Given the description of an element on the screen output the (x, y) to click on. 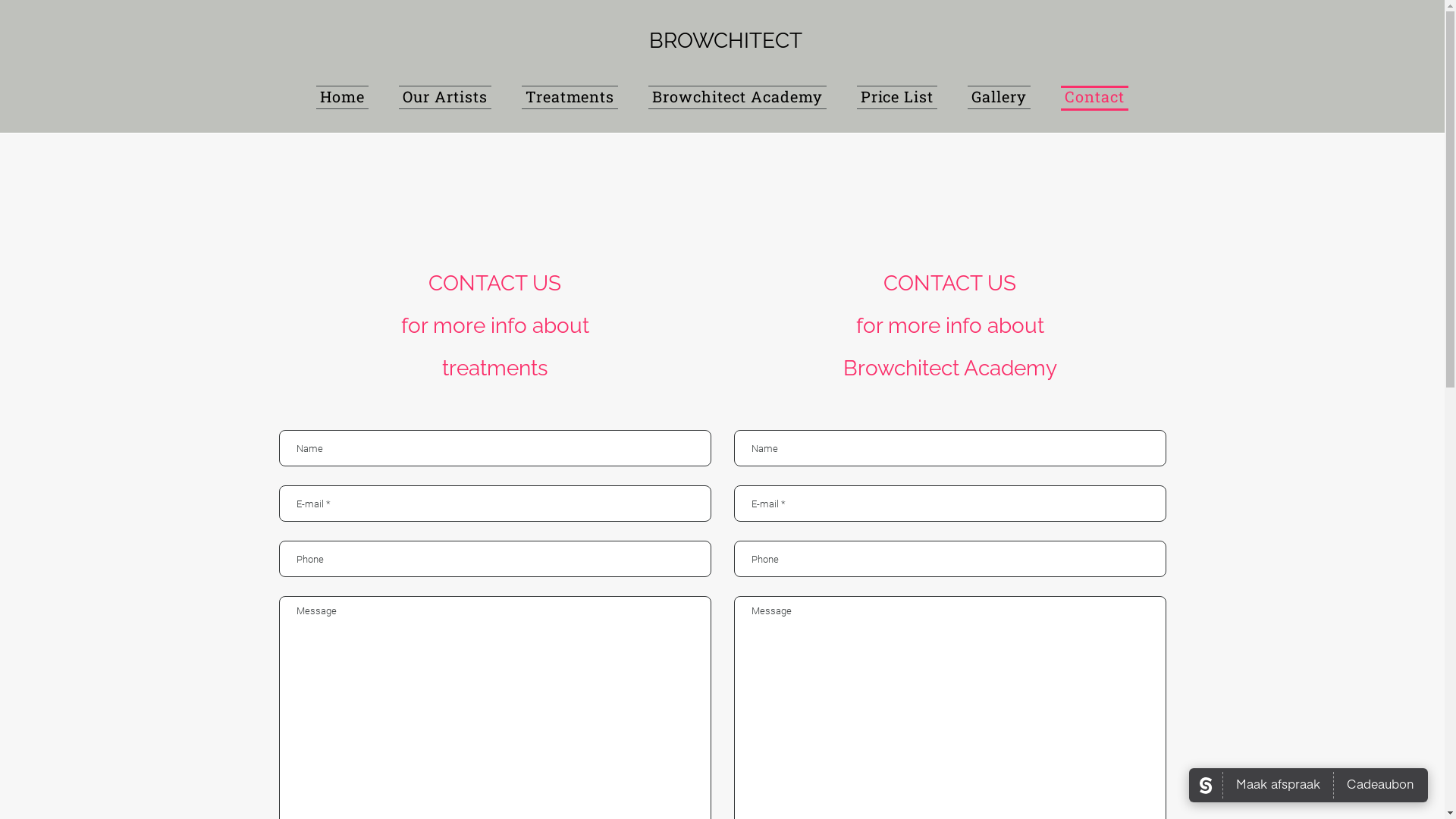
Price List Element type: text (897, 96)
Treatments Element type: text (569, 96)
Browchitect Academy Element type: text (736, 96)
Our Artists Element type: text (444, 96)
Contact Element type: text (1094, 96)
Home Element type: text (342, 96)
Gallery Element type: text (998, 96)
